Given the description of an element on the screen output the (x, y) to click on. 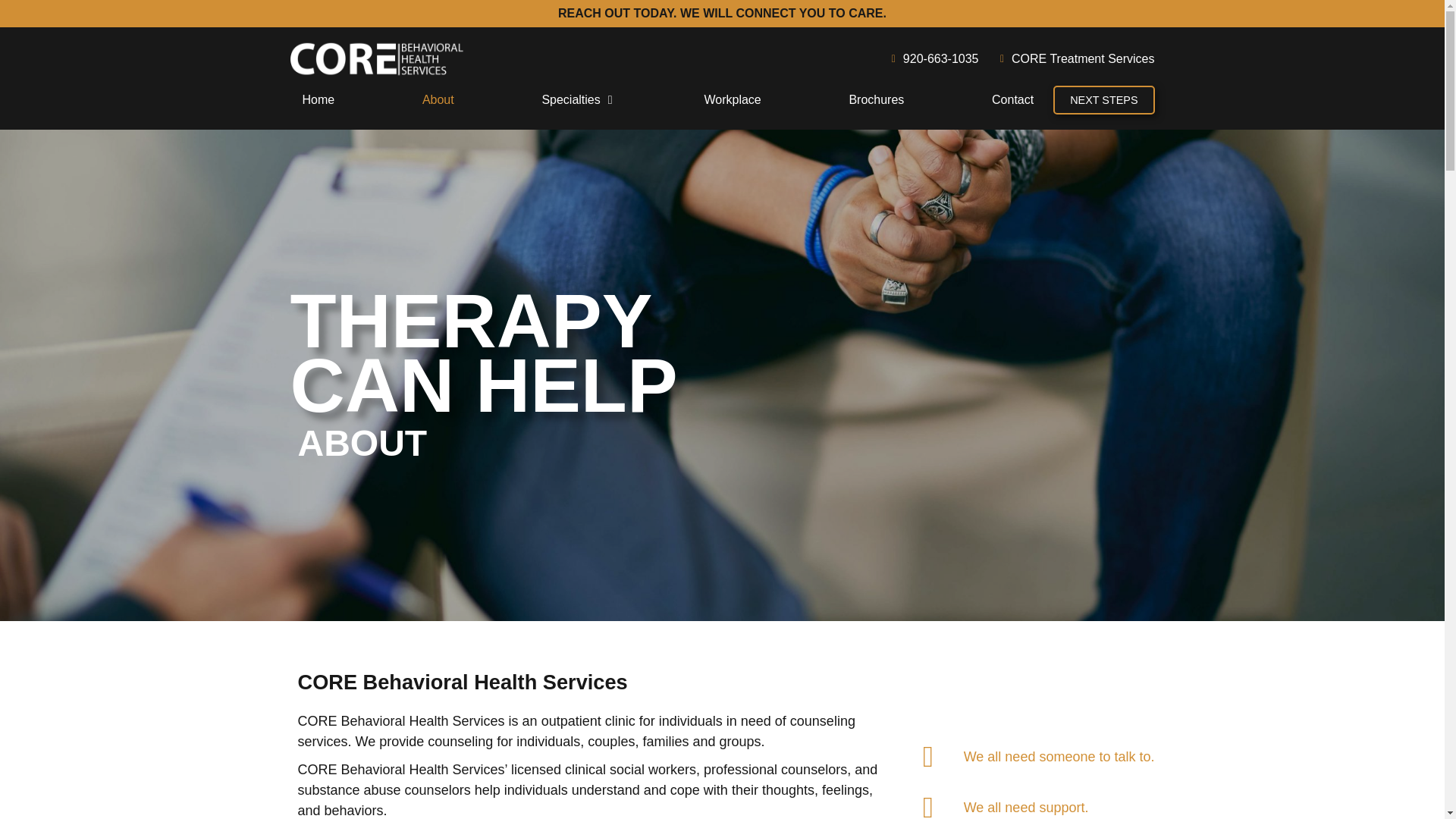
CORE Treatment Services (1072, 58)
Home (317, 99)
About (438, 99)
920-663-1035 (930, 58)
